Given the description of an element on the screen output the (x, y) to click on. 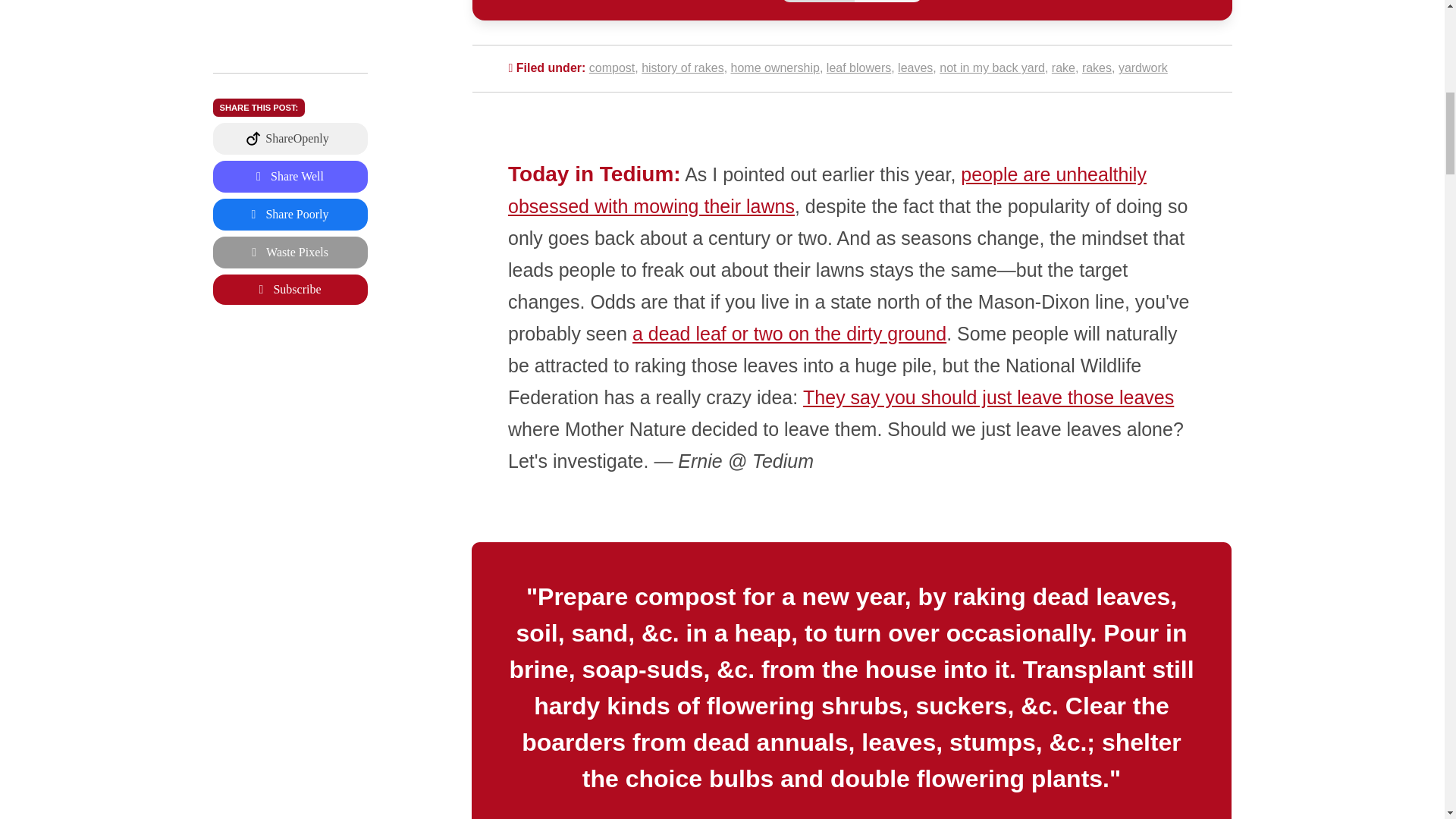
Subscribe (289, 67)
history of rakes (682, 67)
.is-twitter (289, 29)
Waste Pixels (289, 29)
people are unhealthily obsessed with mowing their lawns (827, 190)
.is-facebook (289, 4)
a dead leaf or two on the dirty ground (788, 332)
not in my back yard (992, 67)
leaf blowers (859, 67)
They say you should just leave those leaves (988, 396)
